Given the description of an element on the screen output the (x, y) to click on. 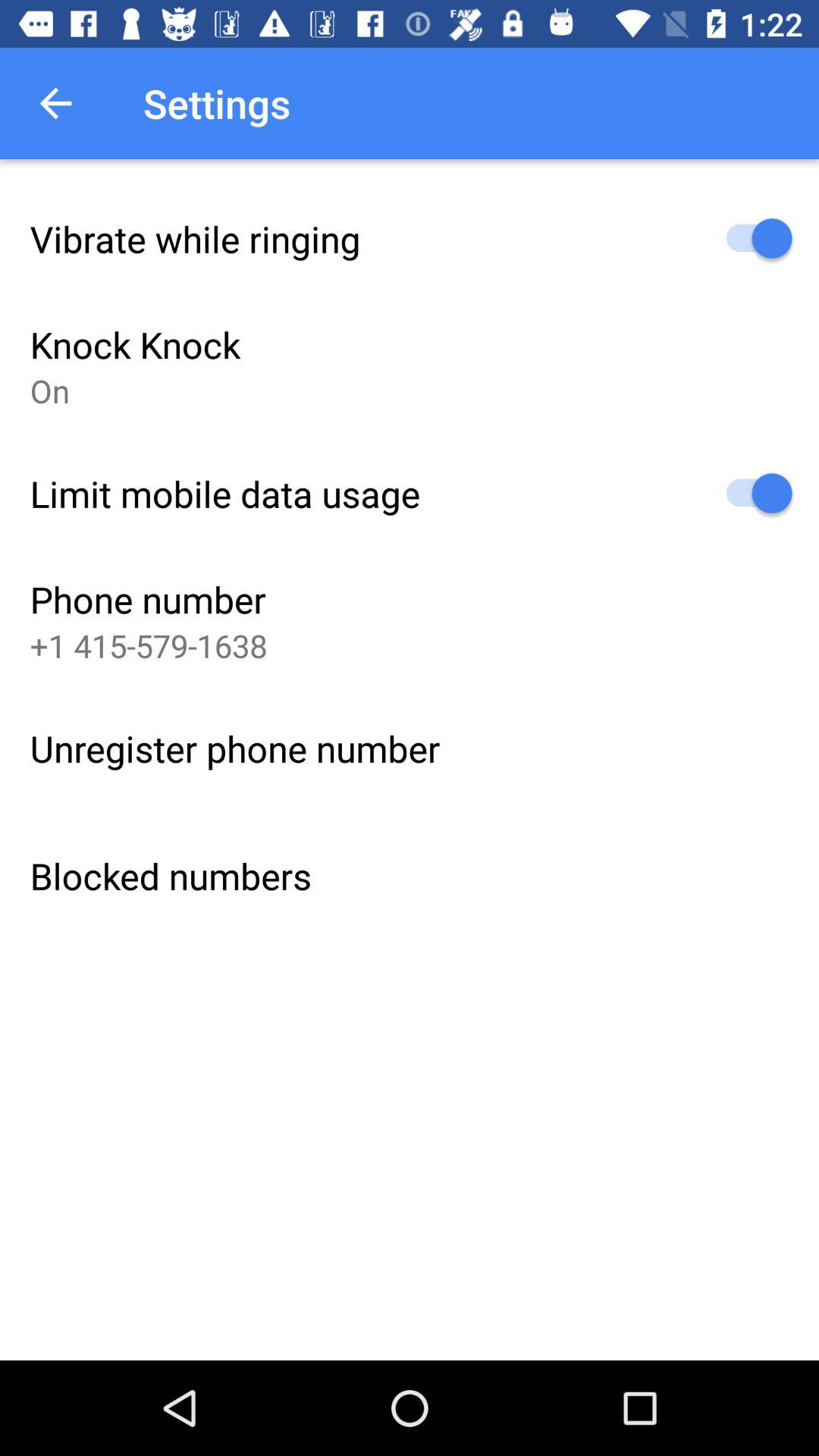
tap icon next to the settings (55, 103)
